Given the description of an element on the screen output the (x, y) to click on. 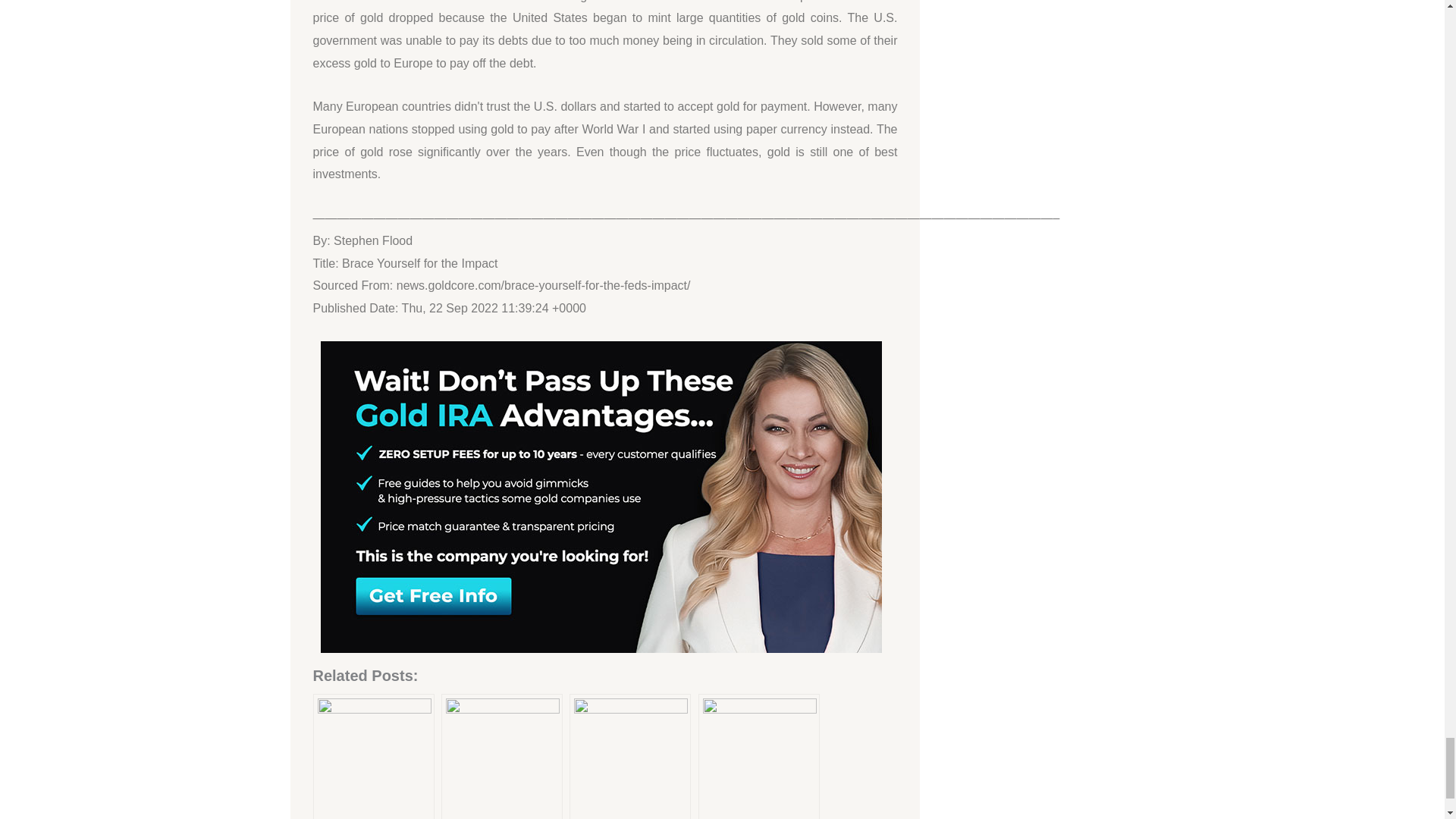
Ask an Expert: Why Invest in a Gold IRA? (758, 756)
Gold IRA vs. Physical Gold: Which Is Right For You? (629, 756)
Gold IRA vs. Physical Gold: Which Is Right For You? (629, 756)
